Given the description of an element on the screen output the (x, y) to click on. 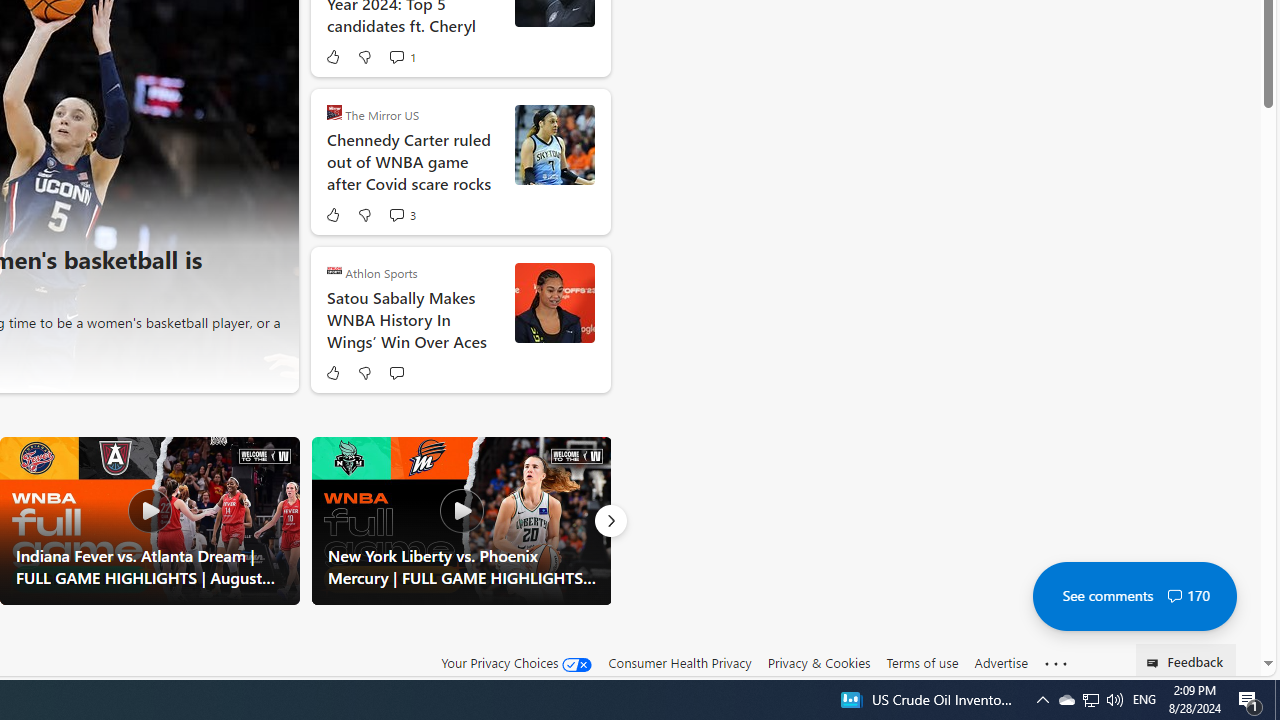
Athlon Sports (333, 269)
Advertise (1000, 663)
usatsi_21497924 (554, 302)
